Given the description of an element on the screen output the (x, y) to click on. 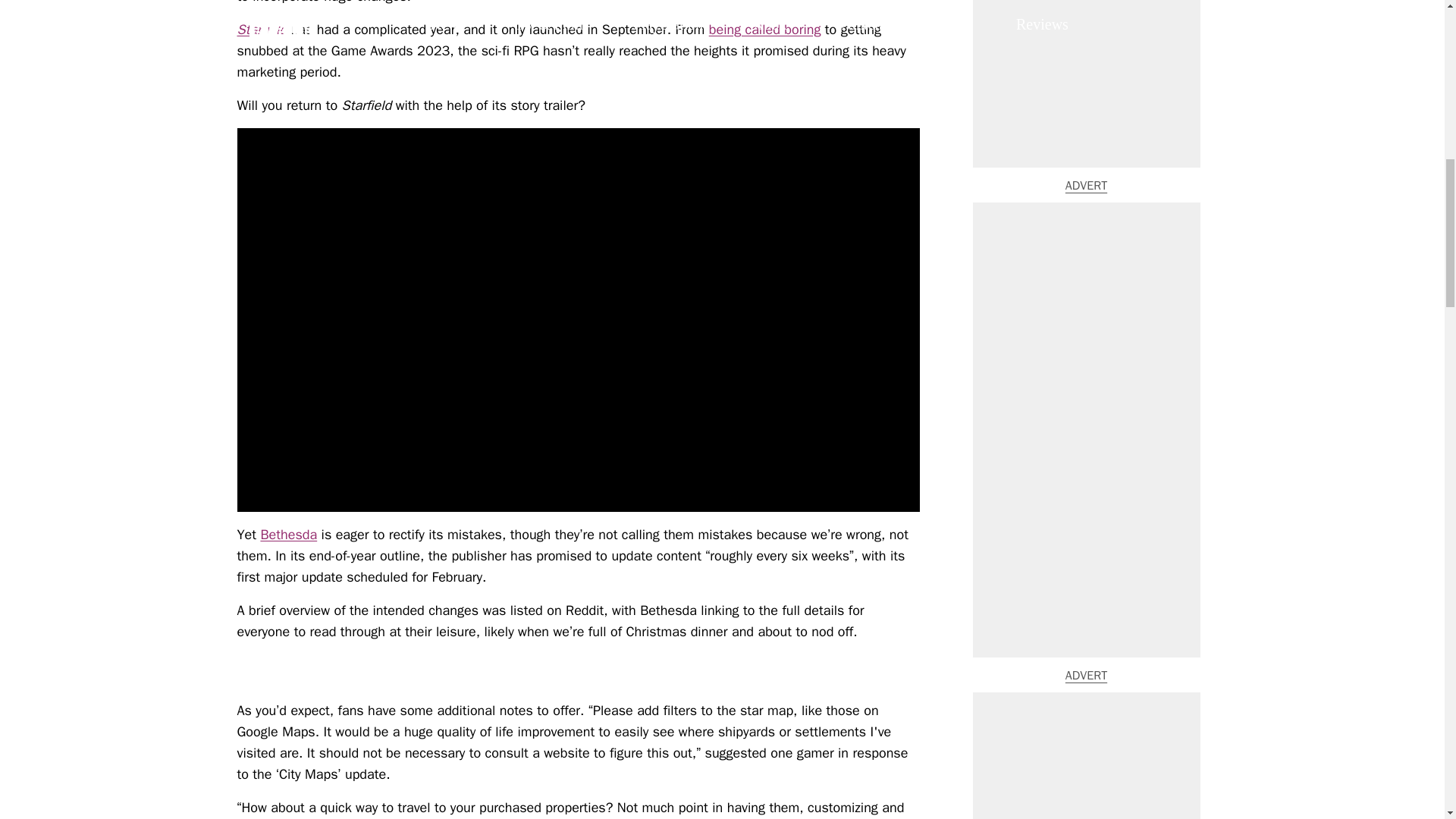
Starfield (260, 29)
being called boring (765, 29)
Bethesda (288, 534)
